Given the description of an element on the screen output the (x, y) to click on. 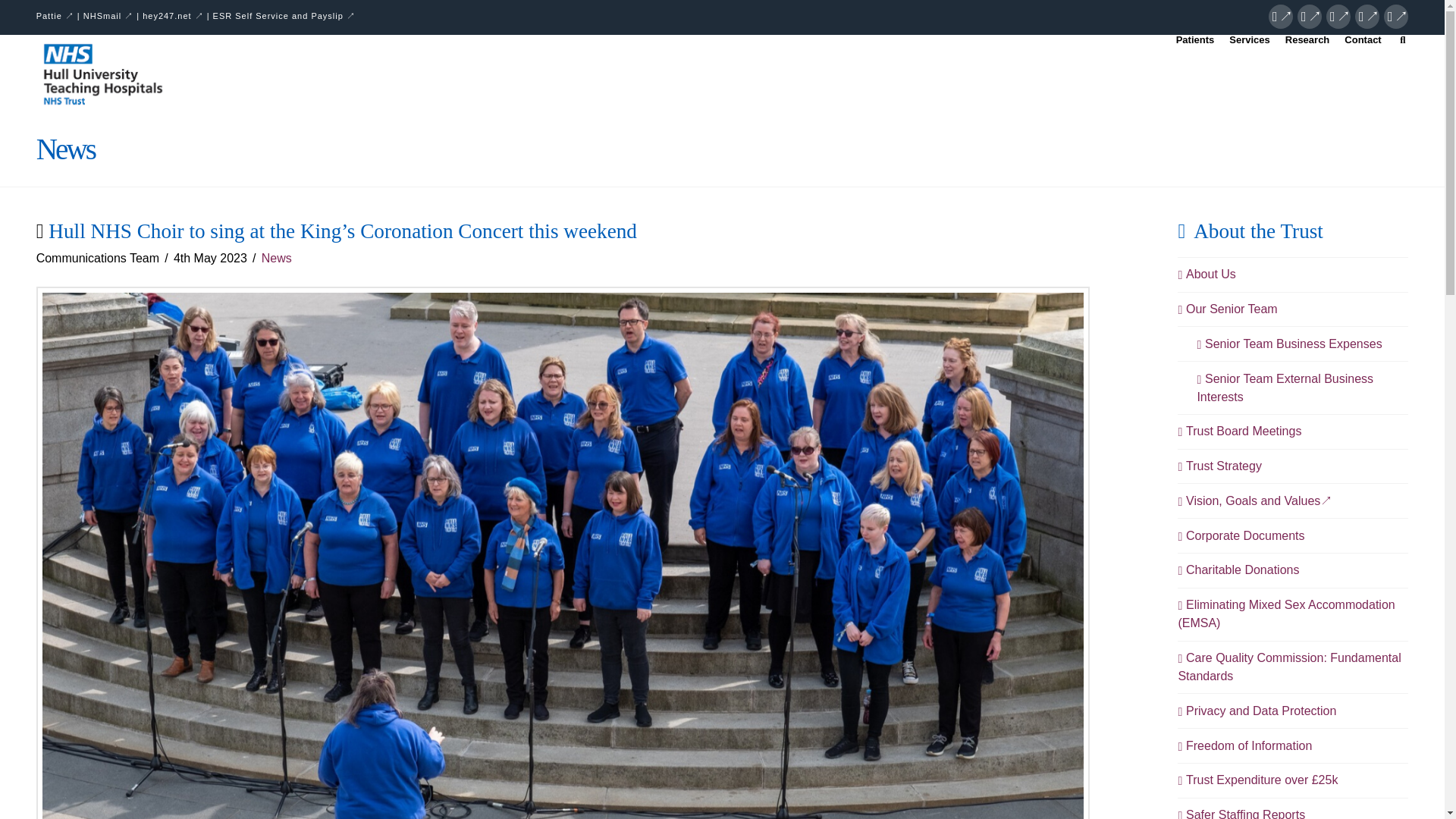
YouTube (1366, 16)
Trust Strategy (1219, 466)
Privacy and Data Protection (1256, 710)
Pattie (55, 15)
Facebook (1280, 16)
Senior Team External Business Interests (1301, 388)
hey247.net (172, 15)
Corporate Documents (1240, 536)
Safer Staffing Reports (1240, 812)
Trust Board Meetings (1239, 431)
